Given the description of an element on the screen output the (x, y) to click on. 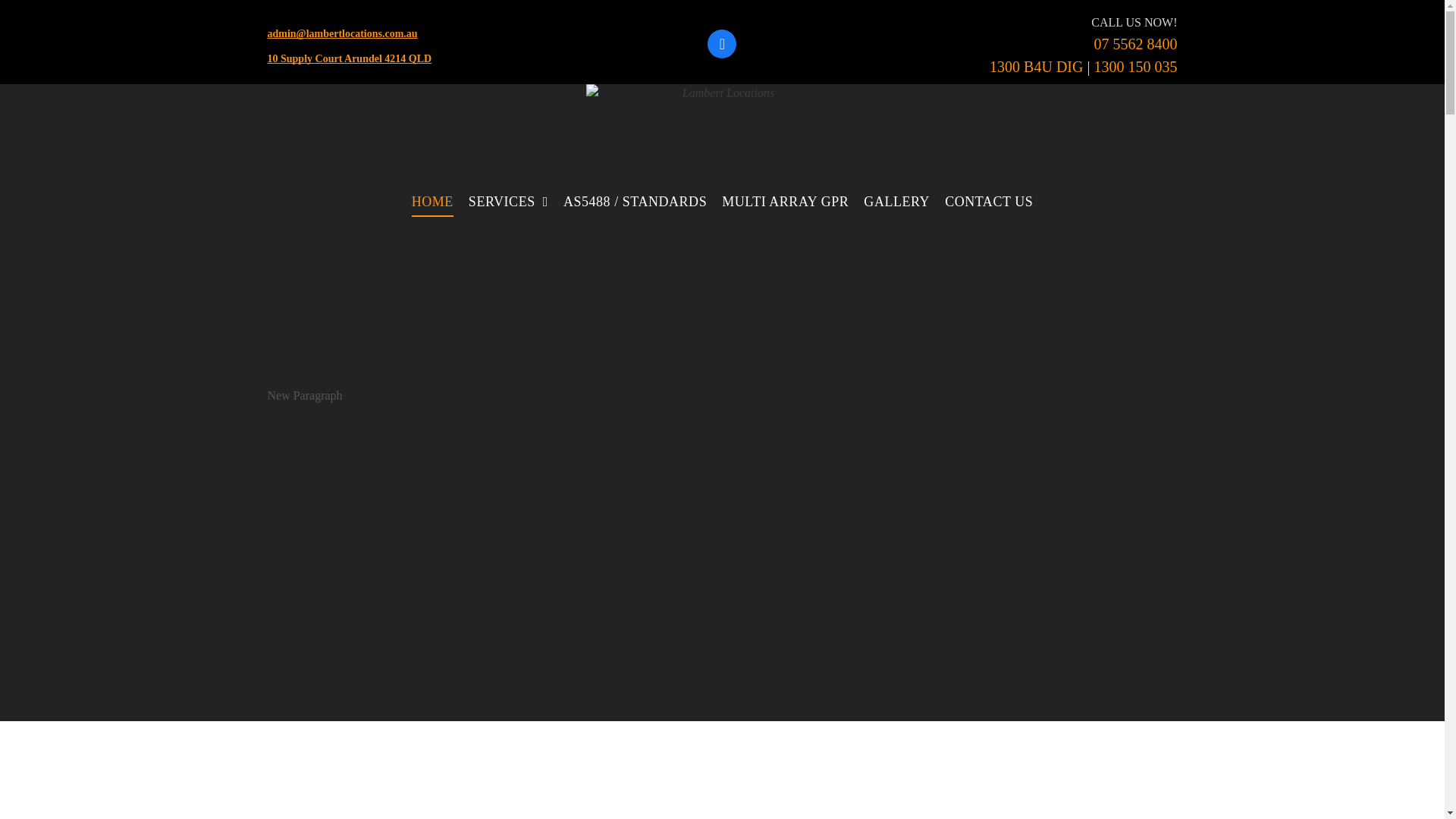
1300 150 035 Element type: text (1134, 66)
10 Supply Court Arundel 4214 QLD Element type: text (348, 58)
CONTACT US Element type: text (988, 202)
MULTI ARRAY GPR Element type: text (785, 202)
Lambert Locations Element type: hover (721, 130)
AS5488 / STANDARDS Element type: text (634, 202)
HOME Element type: text (432, 202)
GALLERY Element type: text (896, 202)
1300 B4U DIG Element type: text (1035, 66)
07 5562 8400 Element type: text (1134, 43)
admin@lambertlocations.com.au Element type: text (341, 32)
SERVICES Element type: text (508, 202)
